Given the description of an element on the screen output the (x, y) to click on. 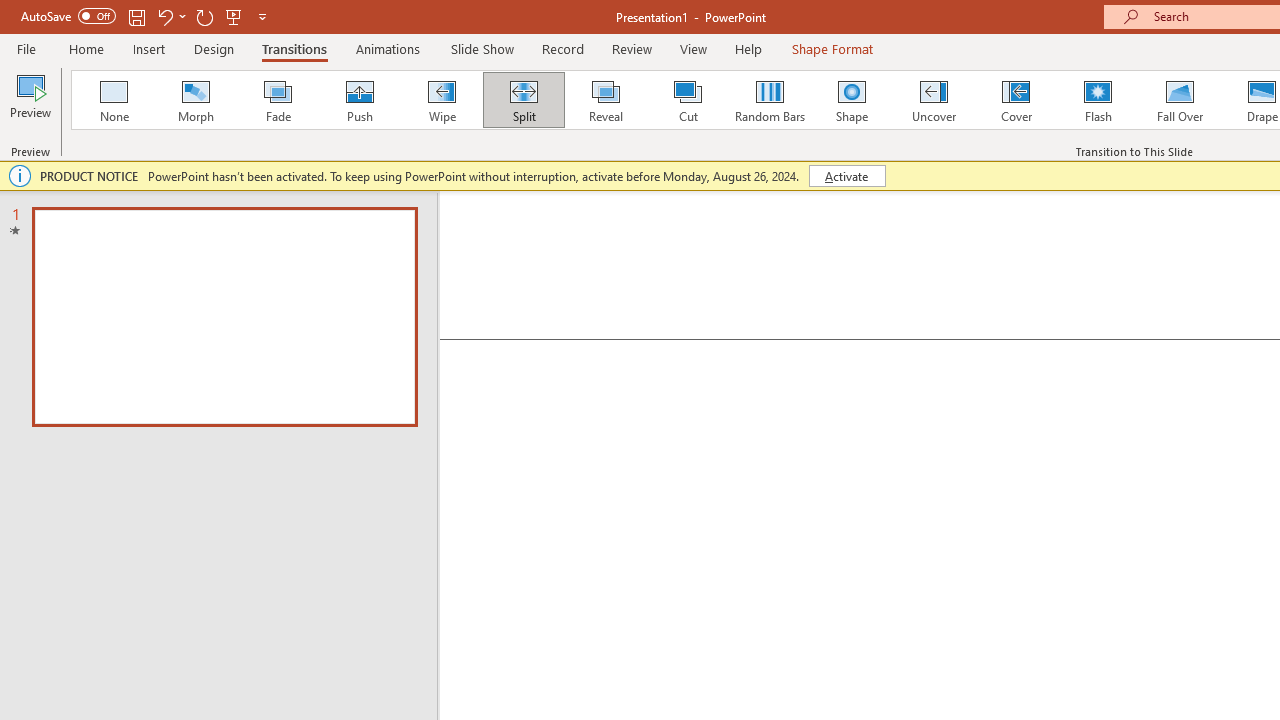
Wipe (441, 100)
None (113, 100)
